Given the description of an element on the screen output the (x, y) to click on. 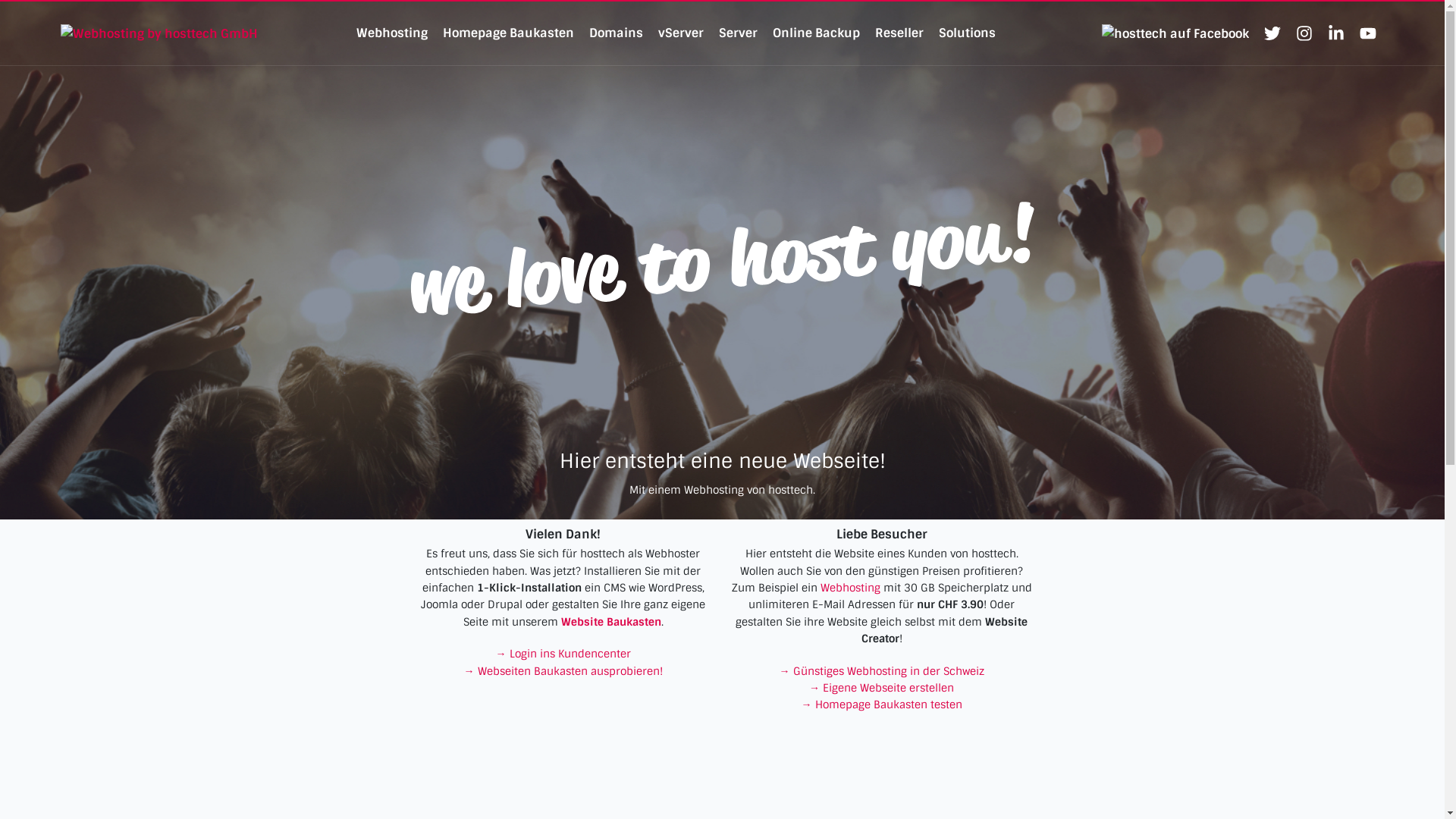
Server Element type: text (737, 32)
Webhosting Element type: text (850, 587)
Solutions Element type: text (966, 32)
Domains Element type: text (616, 32)
Homepage Baukasten Element type: text (508, 32)
vServer Element type: text (680, 32)
Webhosting Element type: text (391, 32)
Website Baukasten Element type: text (611, 621)
Online Backup Element type: text (815, 32)
Reseller Element type: text (899, 32)
